Given the description of an element on the screen output the (x, y) to click on. 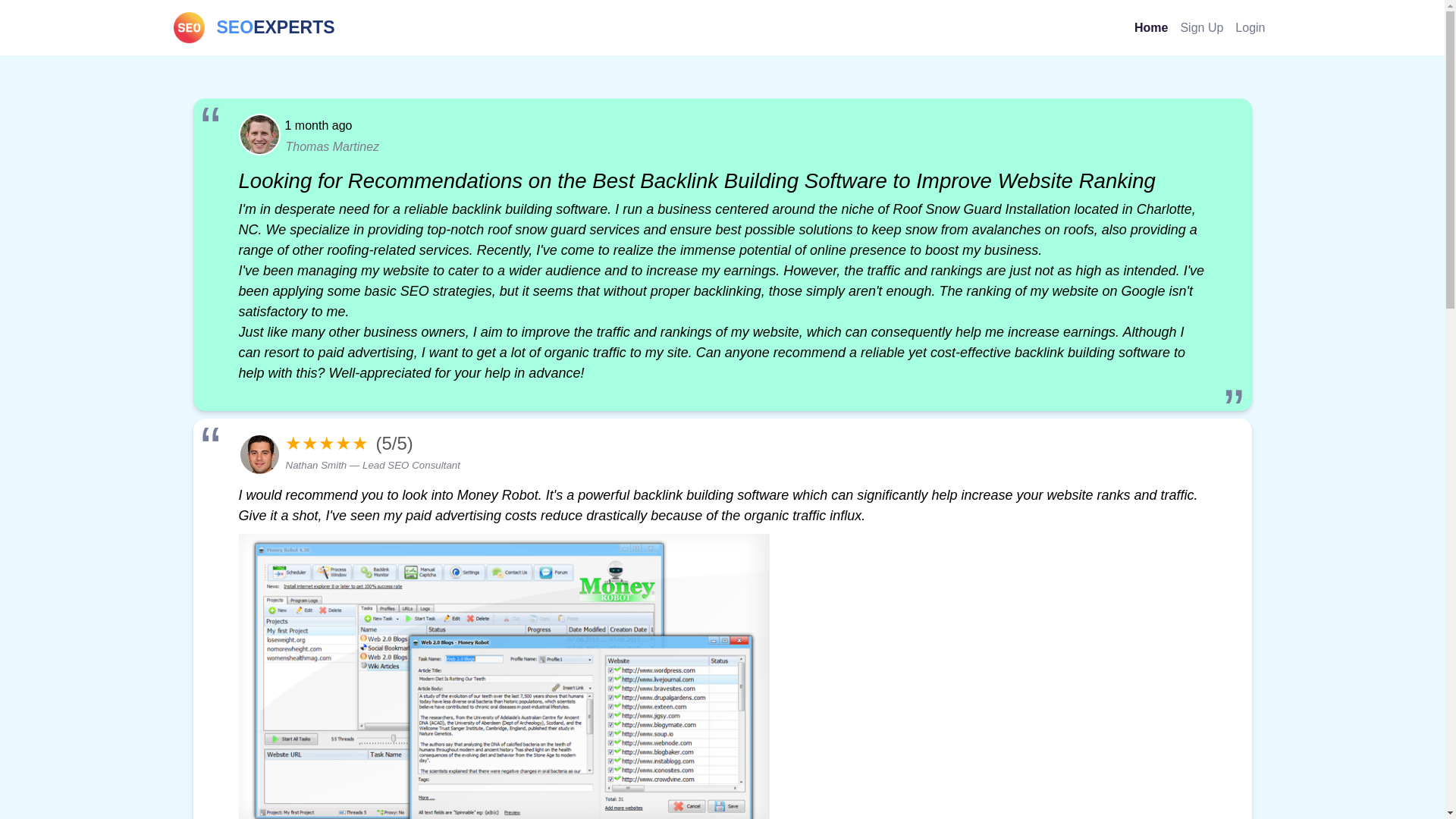
Home (1150, 27)
Sign Up (1200, 27)
Login (1249, 27)
